Given the description of an element on the screen output the (x, y) to click on. 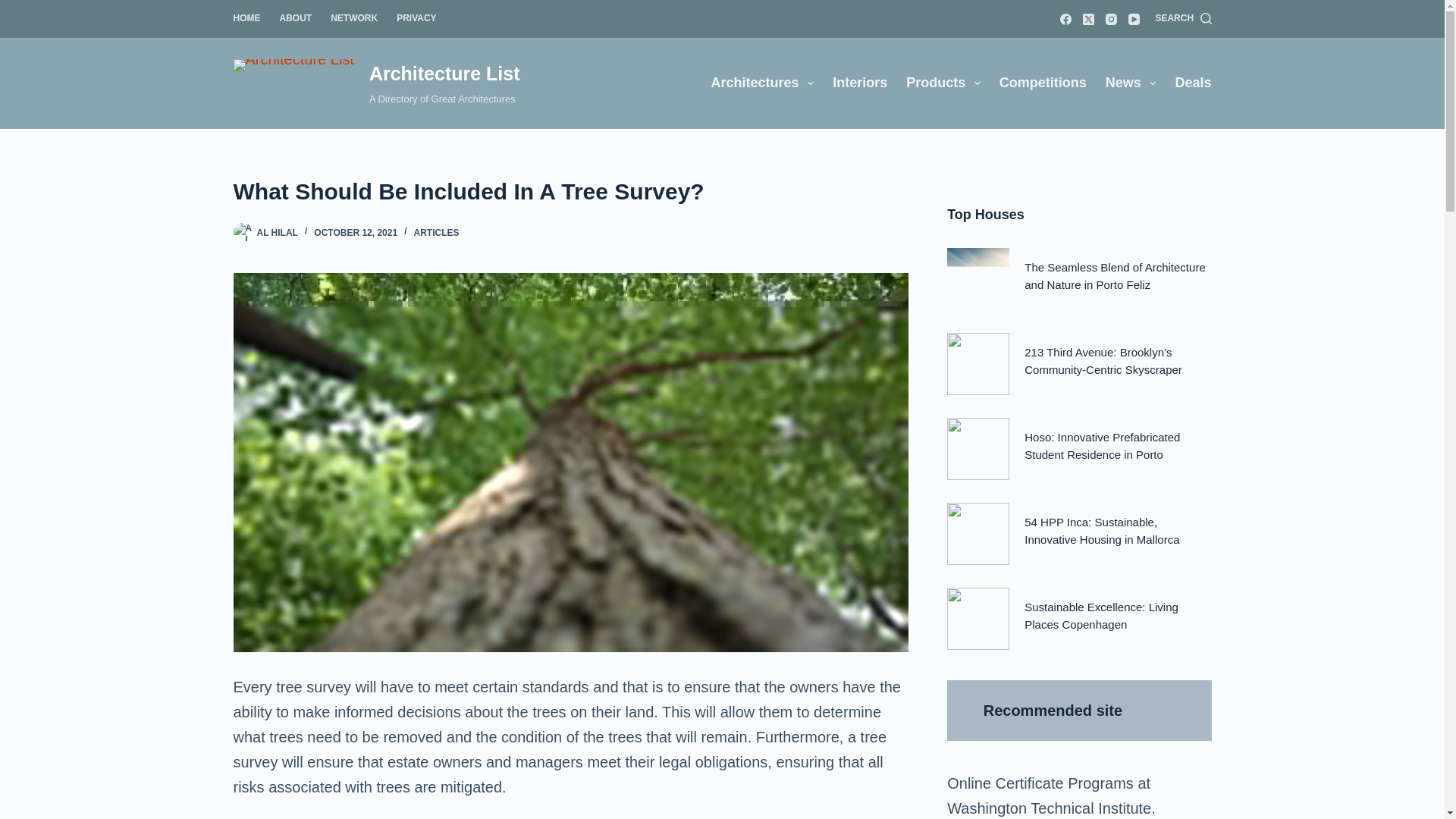
Posts by Al Hilal (276, 232)
Skip to content (15, 7)
What Should Be Included In A Tree Survey? (570, 191)
